Given the description of an element on the screen output the (x, y) to click on. 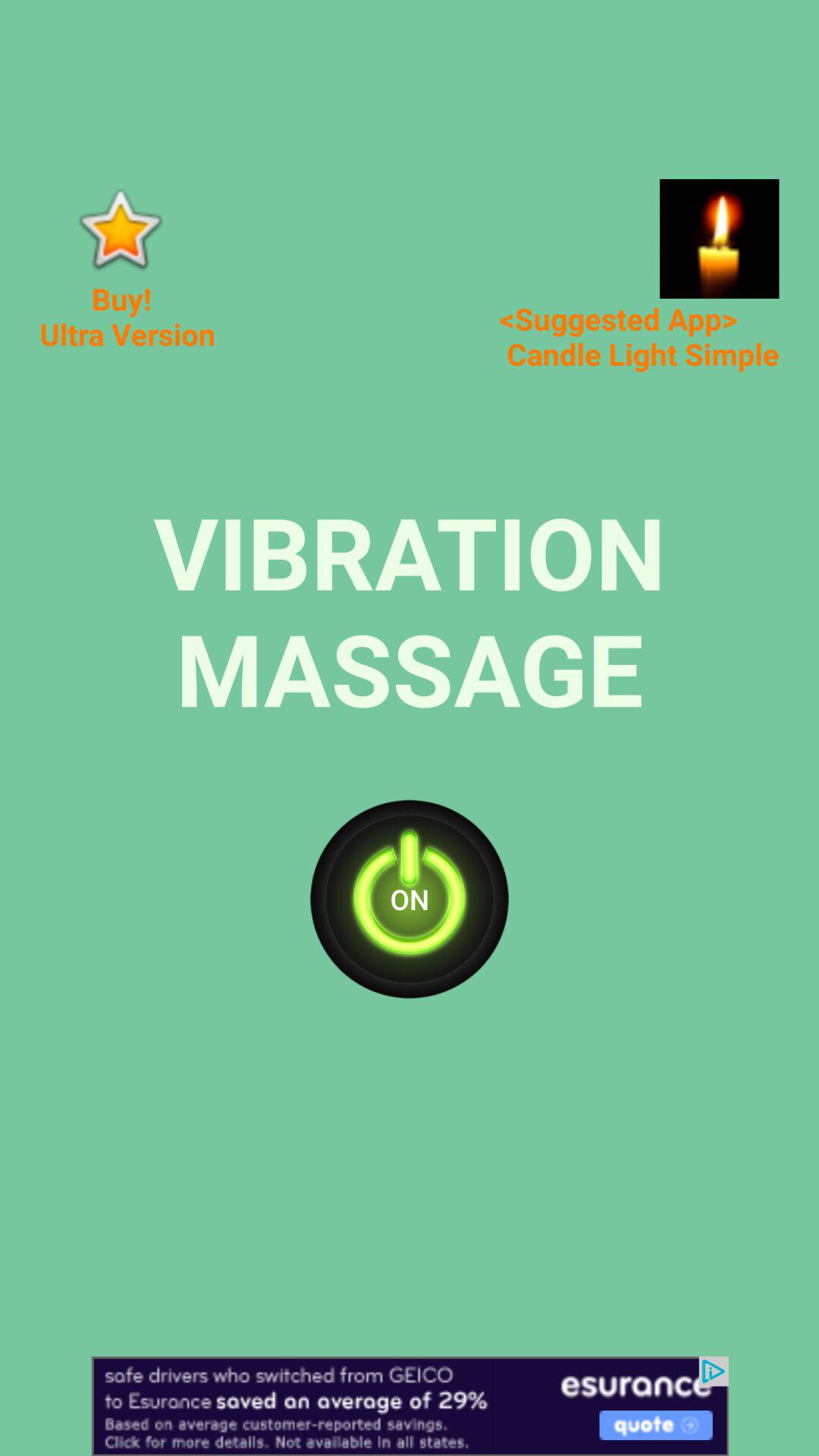
open advertisement (719, 238)
